Given the description of an element on the screen output the (x, y) to click on. 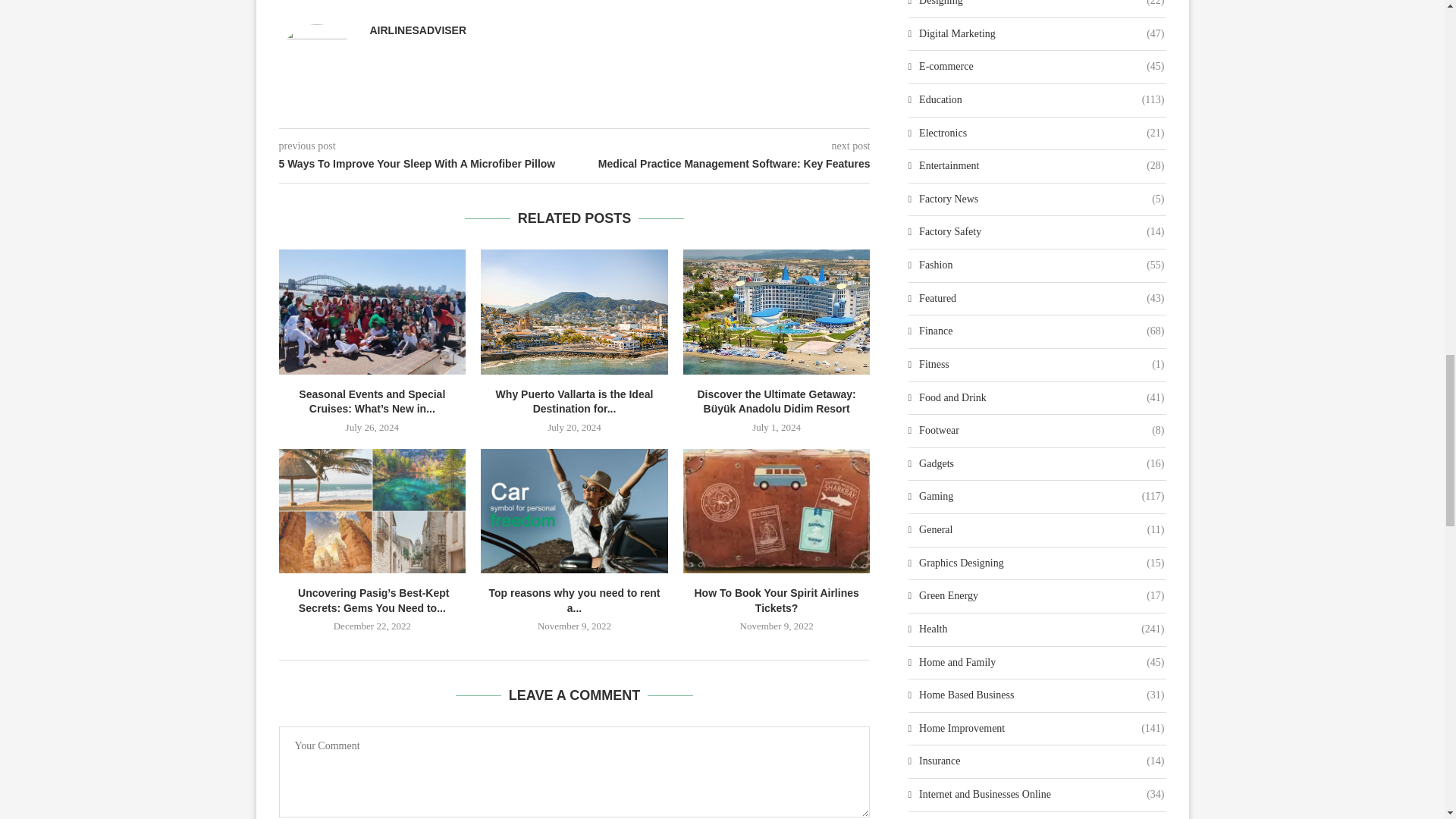
5 Ways To Improve Your Sleep With A Microfiber Pillow (427, 164)
AIRLINESADVISER (418, 30)
Author airlinesadviser (418, 30)
Medical Practice Management Software: Key Features (722, 164)
Top reasons why you need to rent a car in Yerevan (574, 510)
How To Book Your Spirit Airlines Tickets? (776, 510)
